Given the description of an element on the screen output the (x, y) to click on. 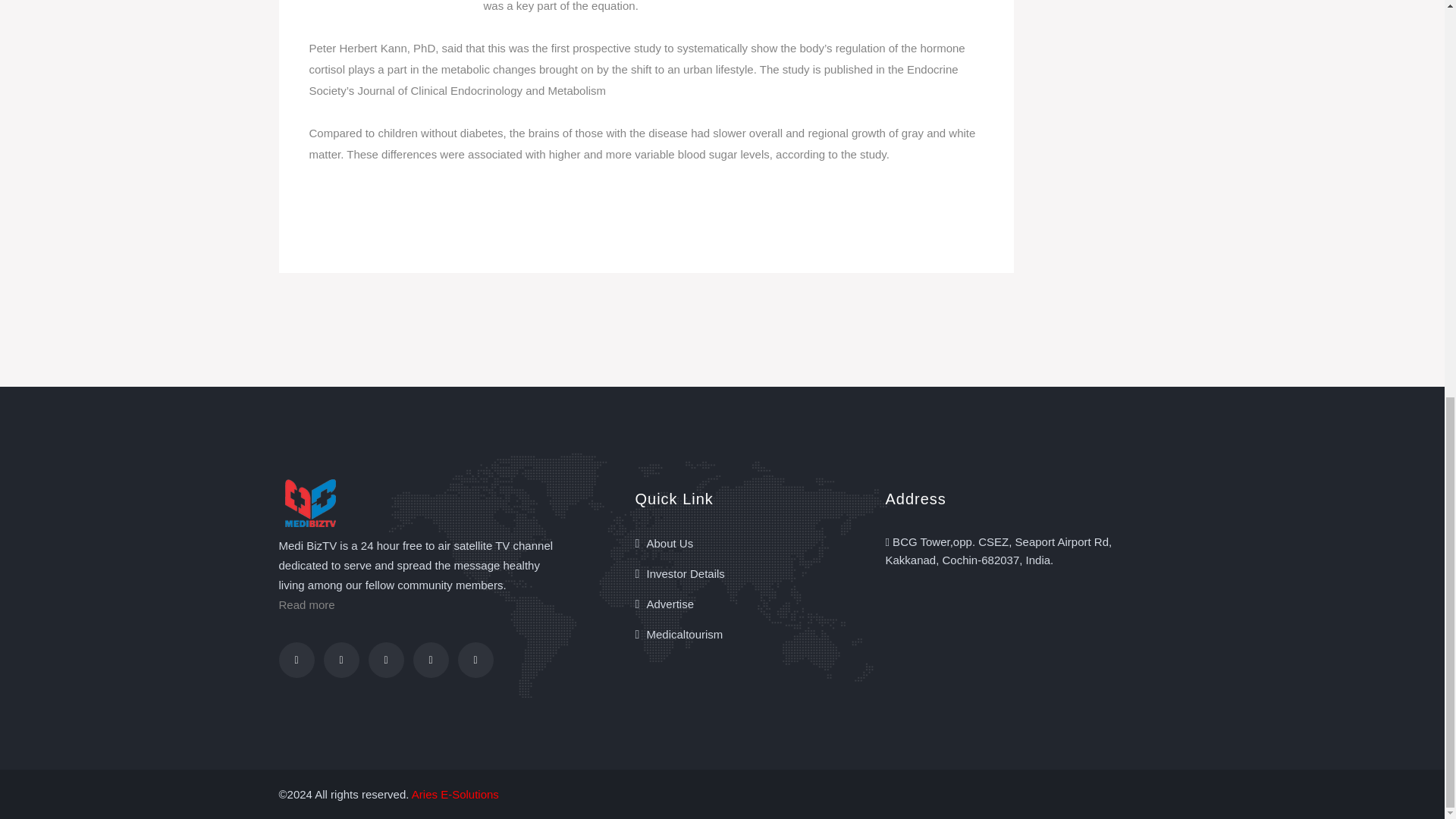
Read more (306, 604)
